Given the description of an element on the screen output the (x, y) to click on. 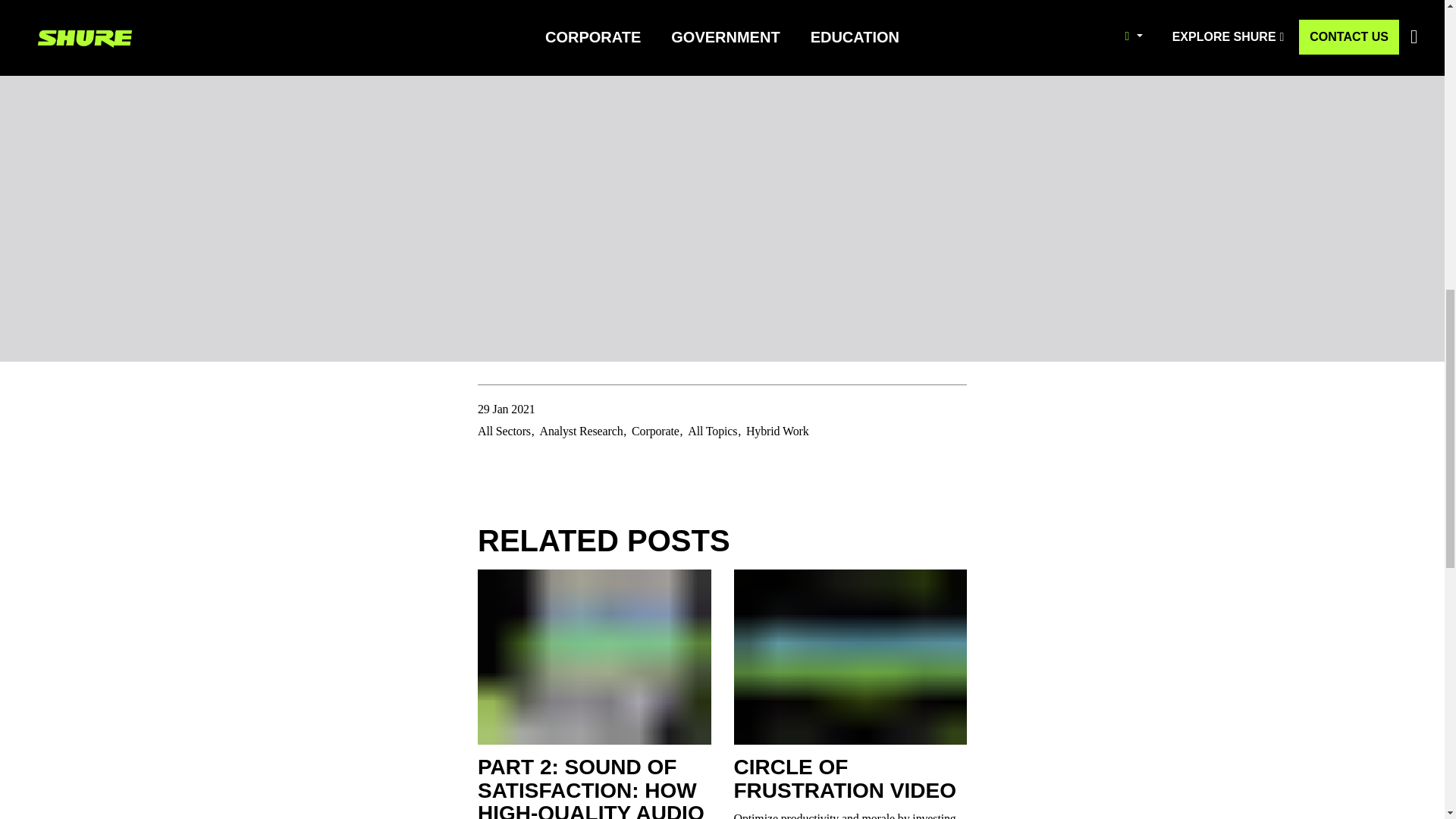
Hybrid Work (777, 431)
Analyst Research (580, 431)
Analyst Research (580, 431)
Corporate (655, 431)
All Topics (711, 431)
All Sectors (504, 431)
Corporate (655, 431)
All Topics (711, 431)
